Given the description of an element on the screen output the (x, y) to click on. 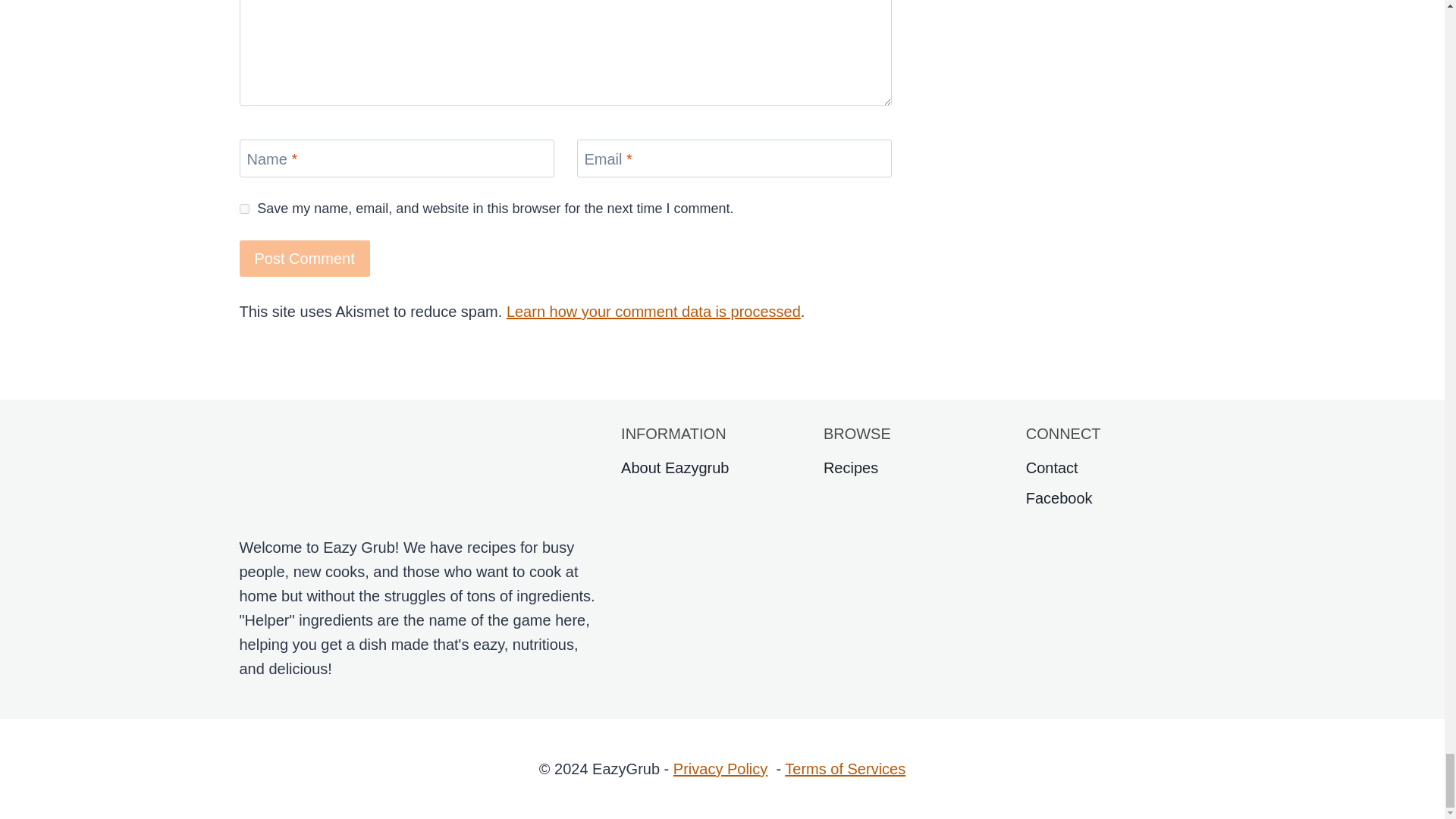
yes (244, 208)
Post Comment (304, 258)
Post Comment (304, 258)
